Given the description of an element on the screen output the (x, y) to click on. 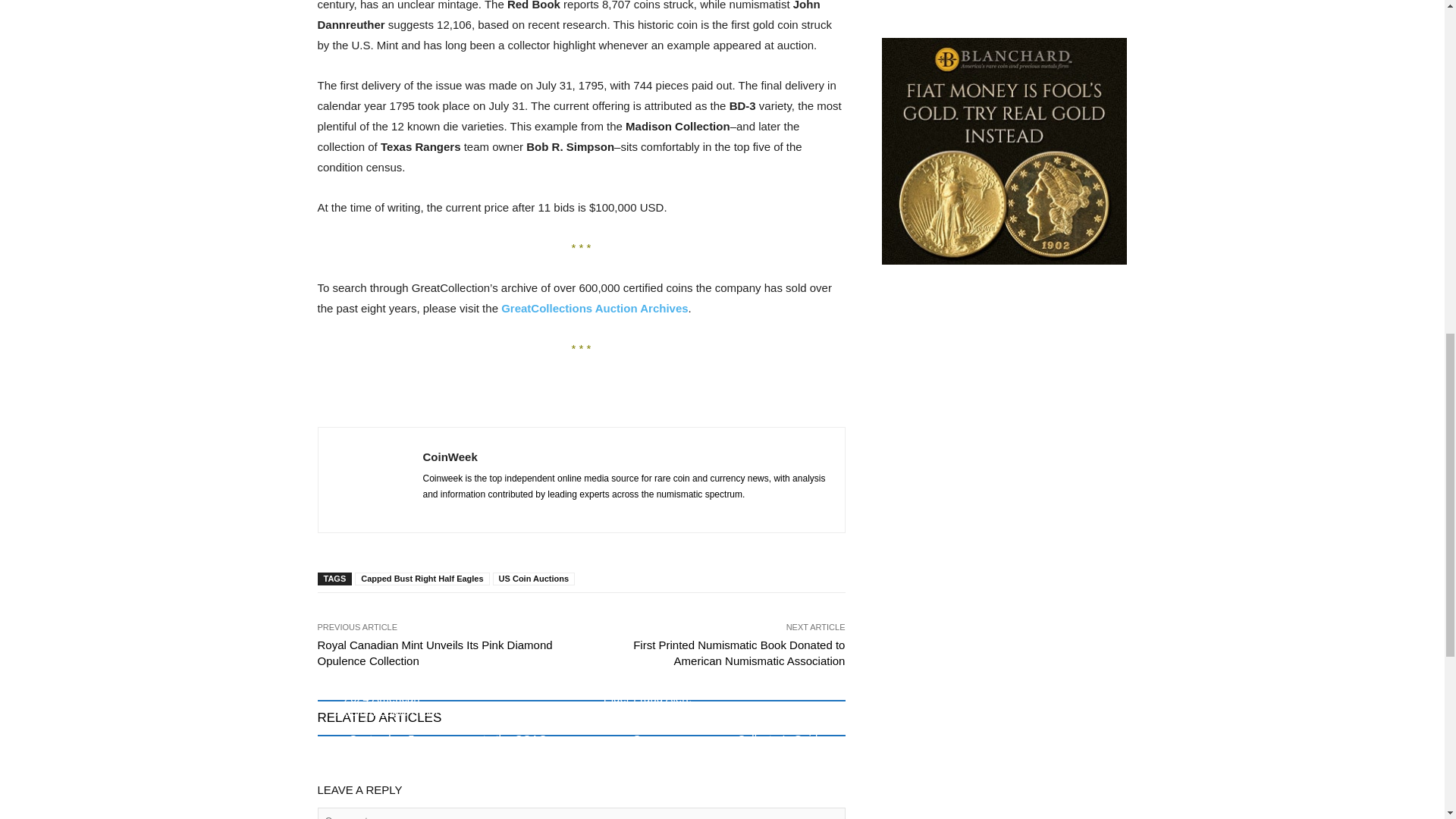
U.S. Mint Now Accepting Applications to the CCAC (515, 725)
CoinWeek (369, 479)
2024 American Palladium Eagle Proof Coin on Sale September 5 (381, 718)
